Given the description of an element on the screen output the (x, y) to click on. 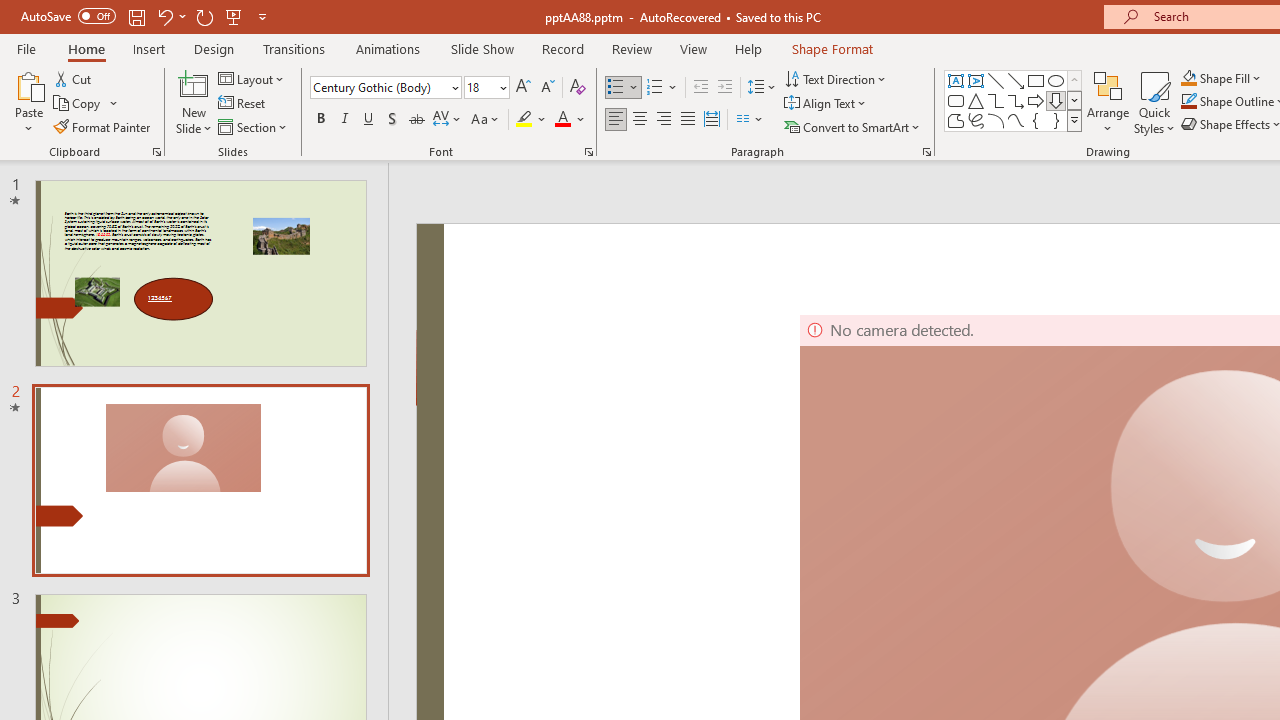
Freeform: Scribble (975, 120)
AutoSave (68, 16)
Numbering (654, 87)
Center (639, 119)
Decrease Indent (700, 87)
Save (136, 15)
Font... (588, 151)
Italic (344, 119)
Strikethrough (416, 119)
New Slide (193, 102)
Text Highlight Color Yellow (524, 119)
From Beginning (234, 15)
Isosceles Triangle (975, 100)
Line Spacing (762, 87)
Format Painter (103, 126)
